Given the description of an element on the screen output the (x, y) to click on. 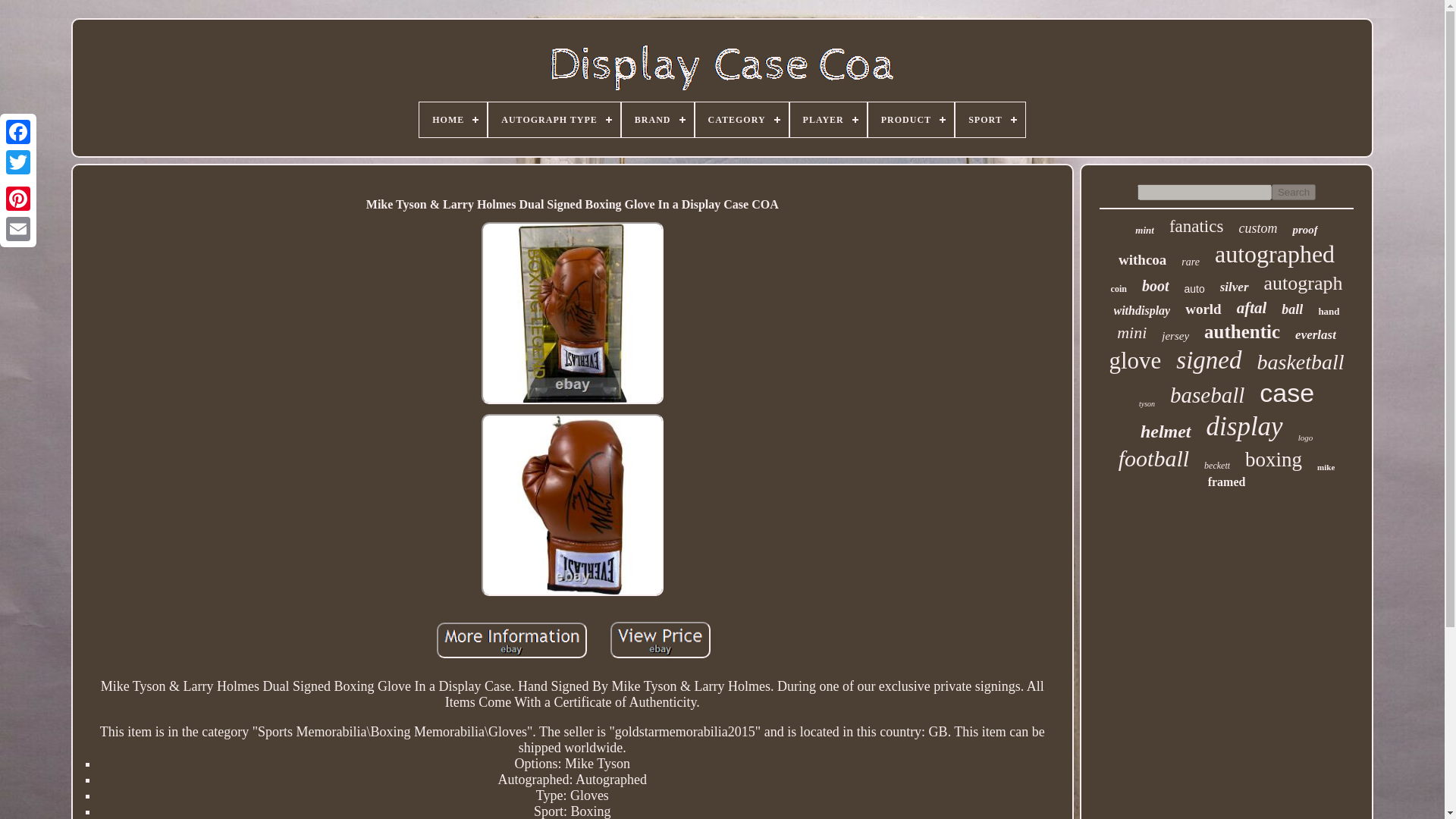
CATEGORY (742, 119)
HOME (452, 119)
Search (1293, 191)
AUTOGRAPH TYPE (553, 119)
BRAND (657, 119)
